Given the description of an element on the screen output the (x, y) to click on. 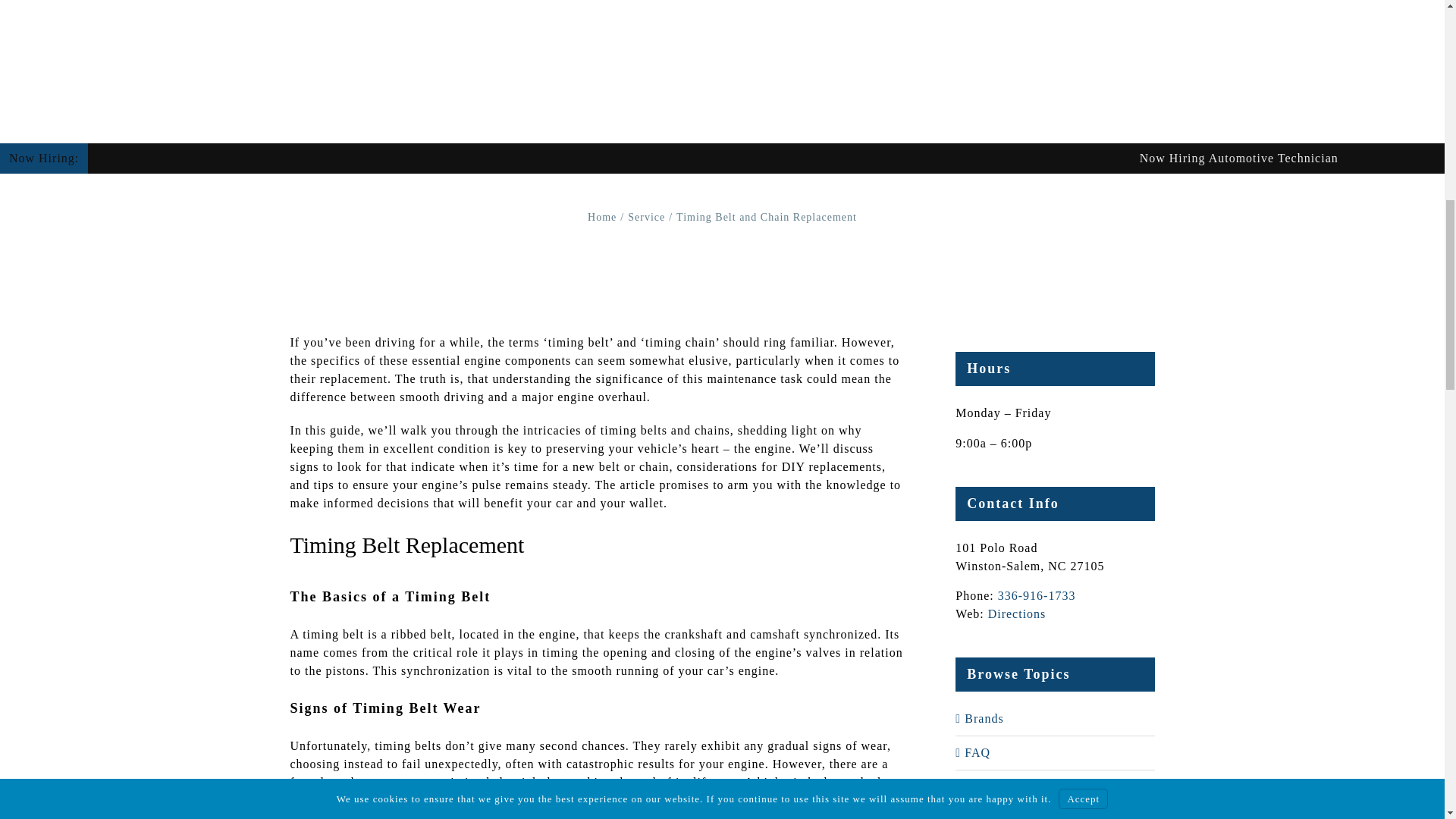
Service (646, 216)
336-916-1733 (1036, 594)
Brands (1055, 719)
Home (601, 216)
Directions (1017, 613)
FAQ (1055, 752)
